Given the description of an element on the screen output the (x, y) to click on. 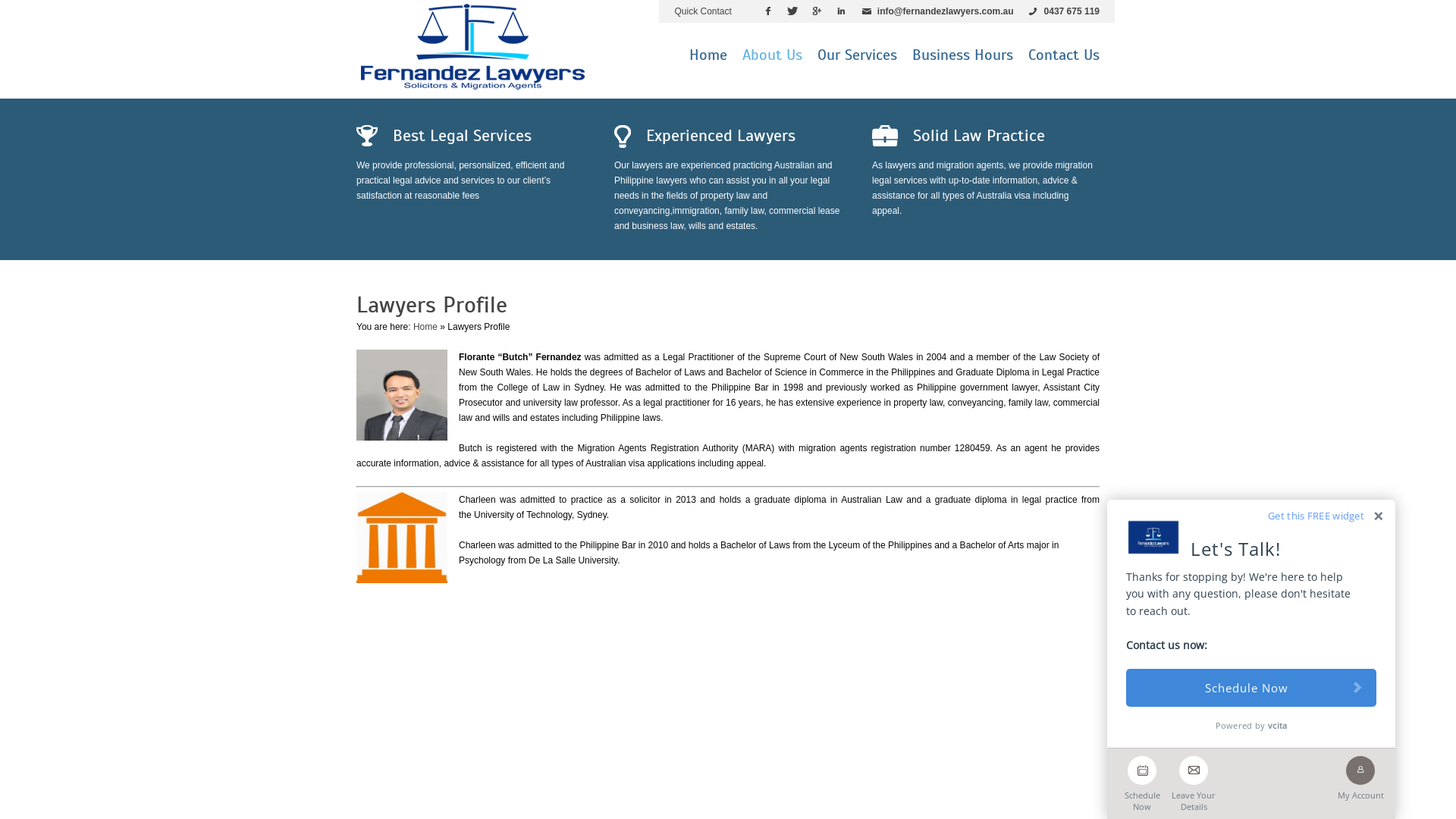
Leave Your Details Element type: text (1193, 780)
Our Services Element type: text (857, 57)
Home Element type: text (425, 326)
My Account Element type: text (1360, 774)
LinkedIn Element type: hover (840, 10)
Solid Law Practice Element type: text (985, 135)
Experienced Lawyers Element type: text (727, 135)
Facebook Element type: hover (768, 10)
Twitter Element type: hover (792, 10)
Business Hours Element type: text (962, 57)
Schedule Now Element type: text (1141, 780)
Contact Us Element type: text (1063, 57)
Best Legal Services Element type: text (469, 135)
Google+ Element type: hover (816, 10)
Home Element type: text (708, 57)
Get this FREE widget Element type: text (1315, 514)
Schedule Now Element type: text (1251, 687)
About Us Element type: text (772, 57)
Powered by vcita Element type: text (1251, 725)
